Given the description of an element on the screen output the (x, y) to click on. 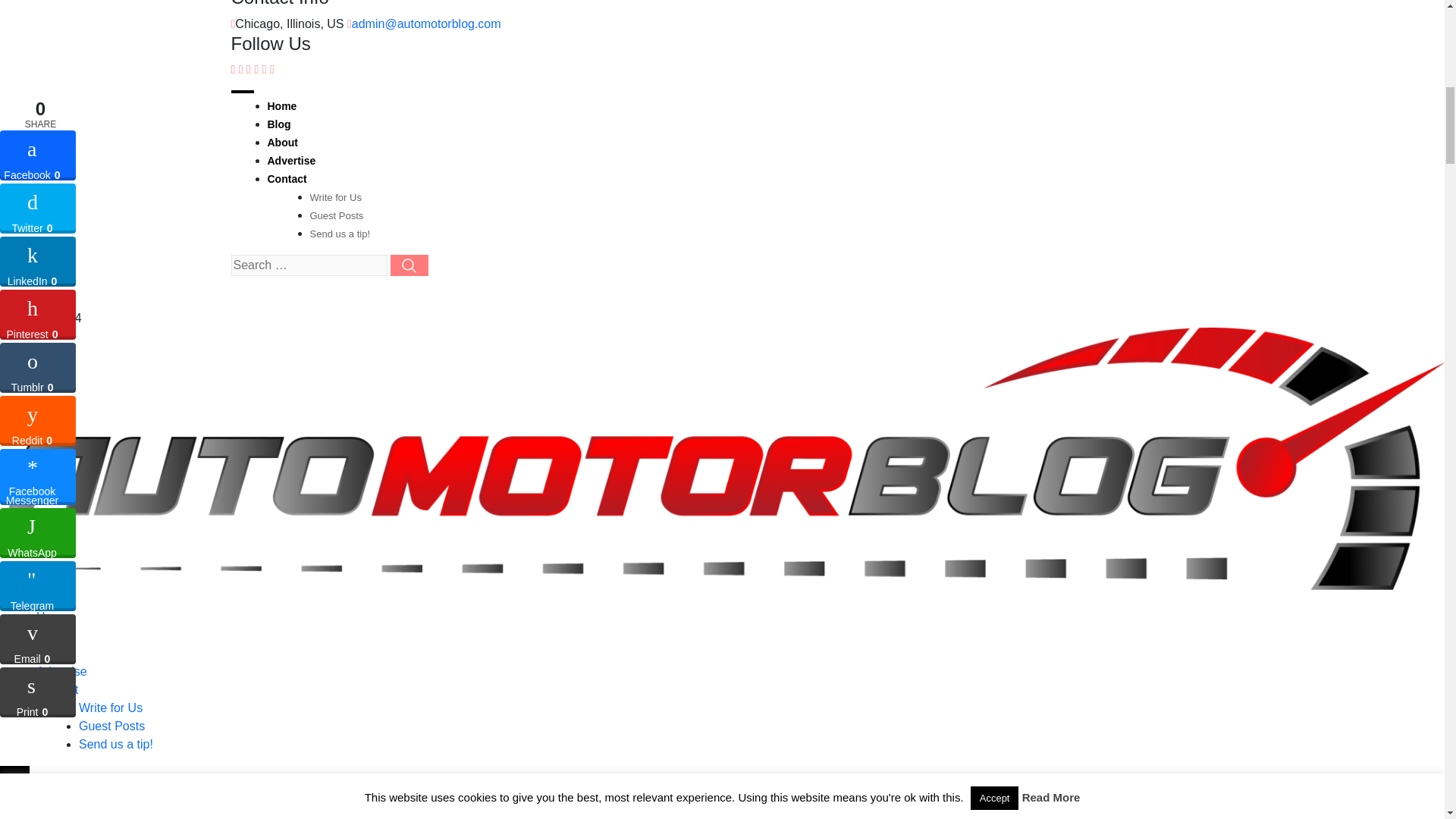
Home (52, 616)
Advertise (290, 160)
Send us a tip! (338, 233)
Search (7, 598)
Home (281, 105)
Guest Posts (111, 725)
Blog (48, 634)
Contact (57, 689)
About (52, 653)
Write for Us (110, 707)
Blog (277, 123)
Contact (285, 178)
About (281, 142)
Guest Posts (335, 215)
Advertise (61, 671)
